Given the description of an element on the screen output the (x, y) to click on. 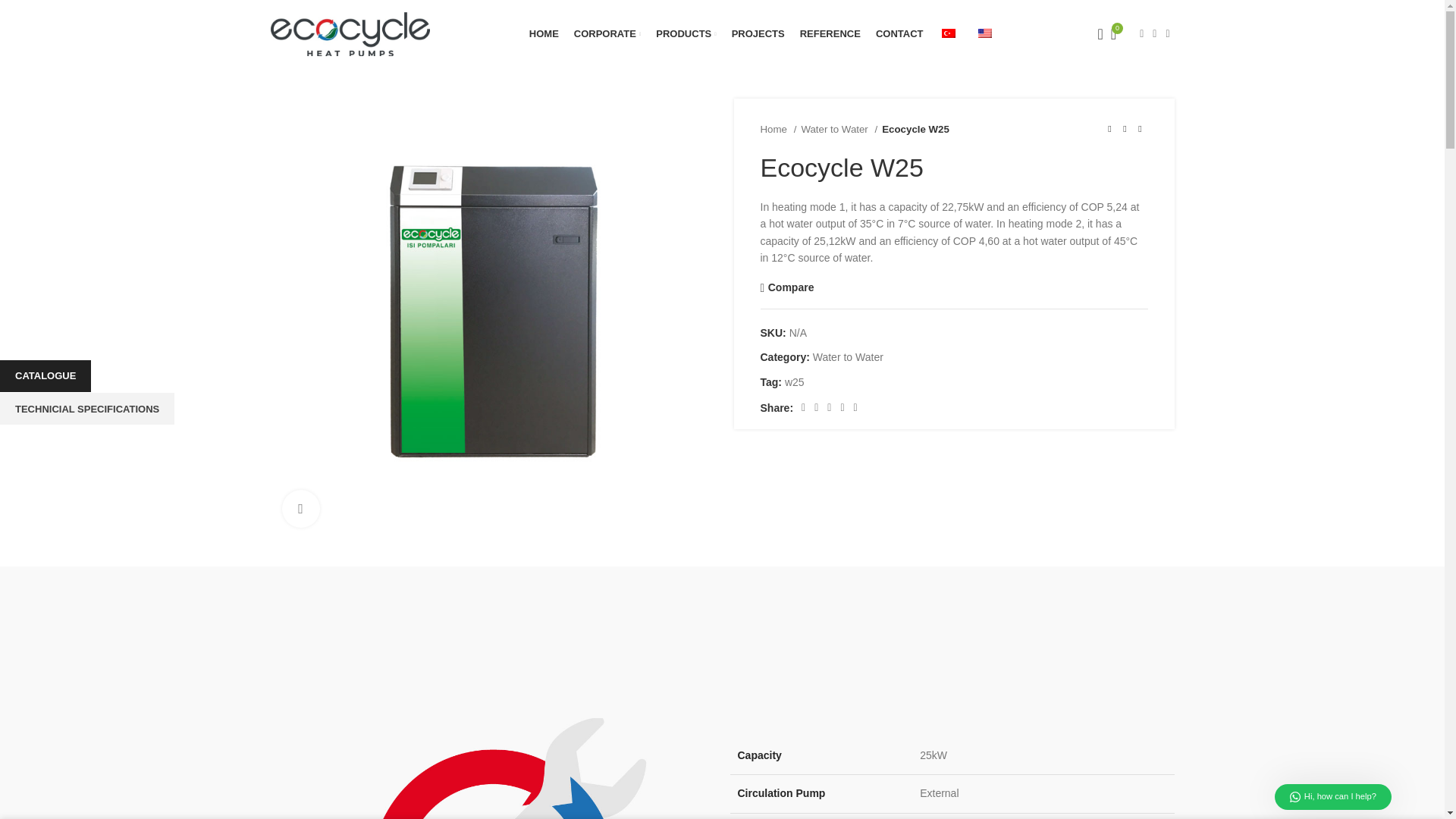
English (984, 32)
Compare (786, 287)
PRODUCTS (686, 33)
Turkish (948, 32)
PROJECTS (758, 33)
w25 (794, 381)
HOME (544, 33)
REFERENCE (722, 33)
